Given the description of an element on the screen output the (x, y) to click on. 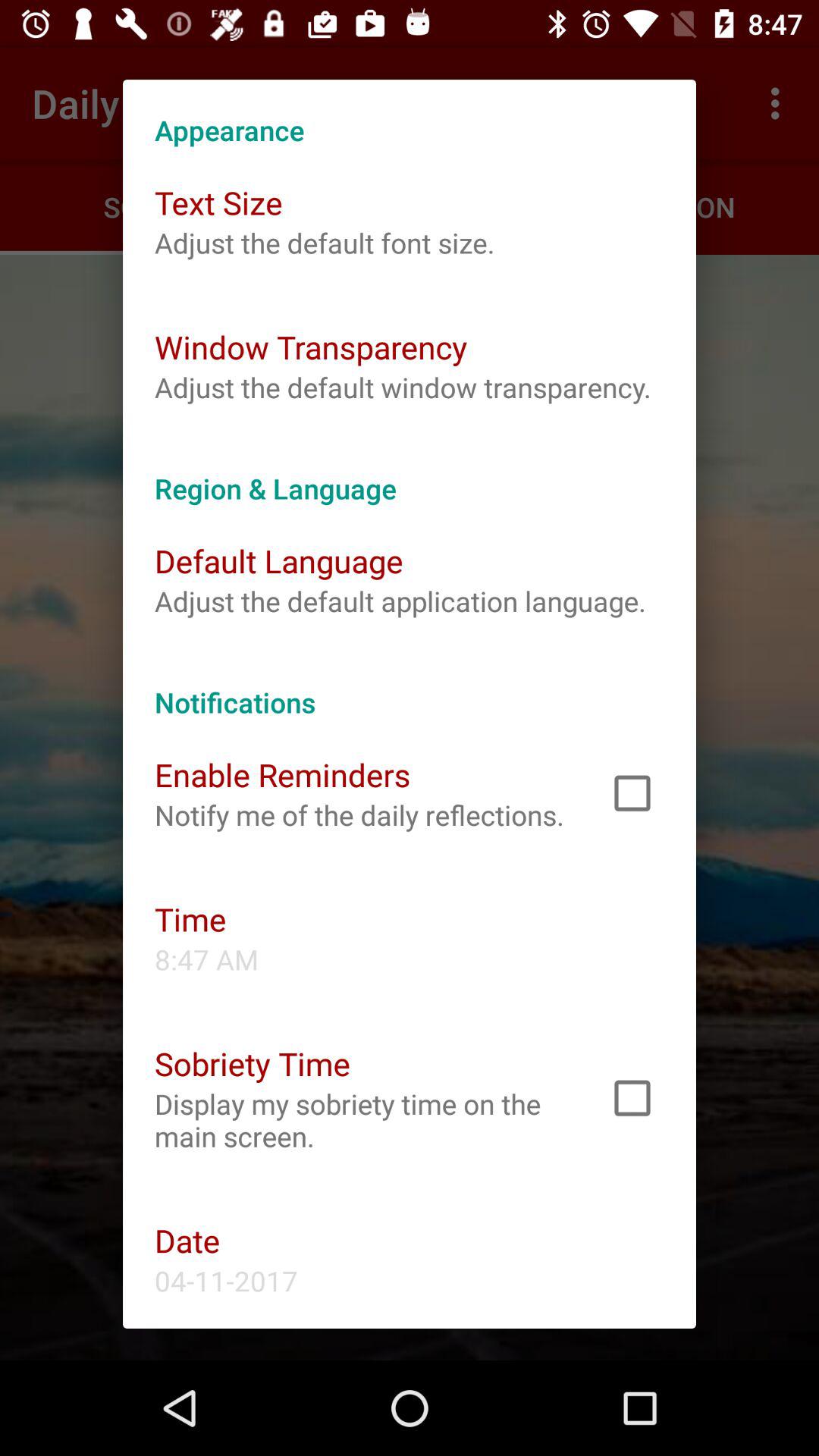
tap notifications icon (409, 686)
